Given the description of an element on the screen output the (x, y) to click on. 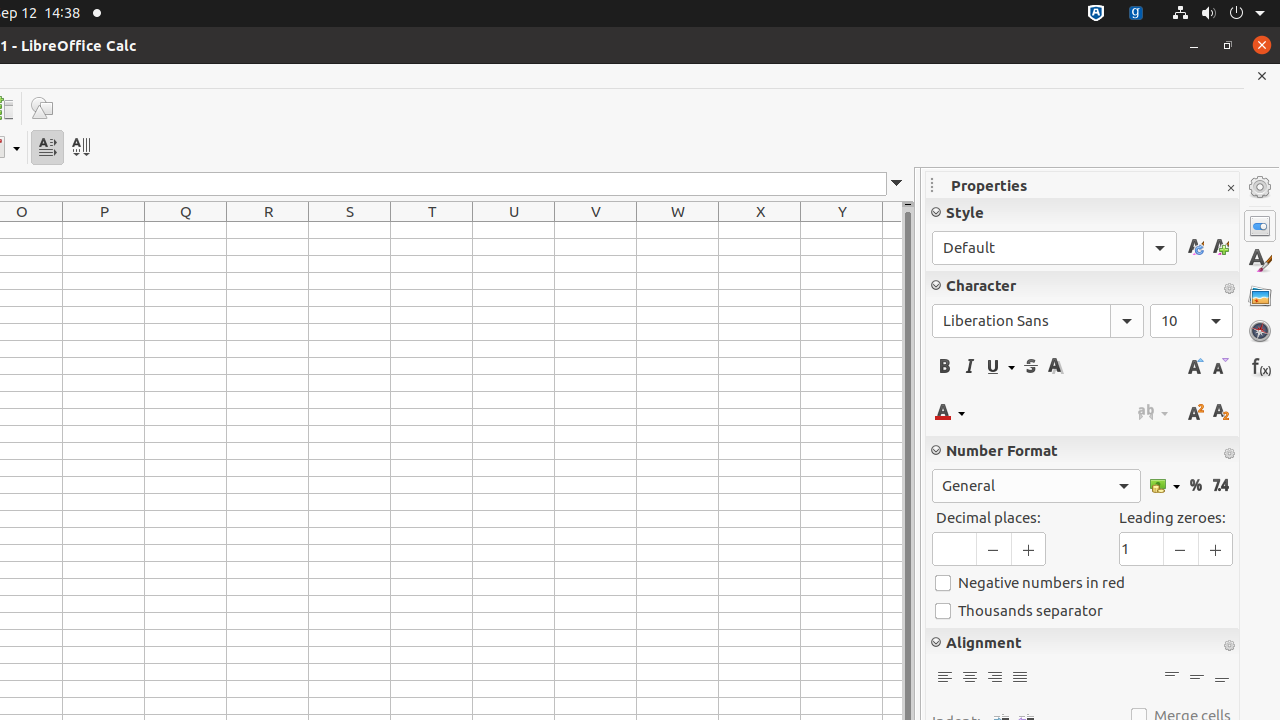
Text direction from left to right Element type: toggle-button (47, 147)
Navigator Element type: radio-button (1260, 331)
Styles Element type: radio-button (1260, 261)
Apply Style Element type: combo-box (1054, 248)
System Element type: menu (1218, 13)
